Given the description of an element on the screen output the (x, y) to click on. 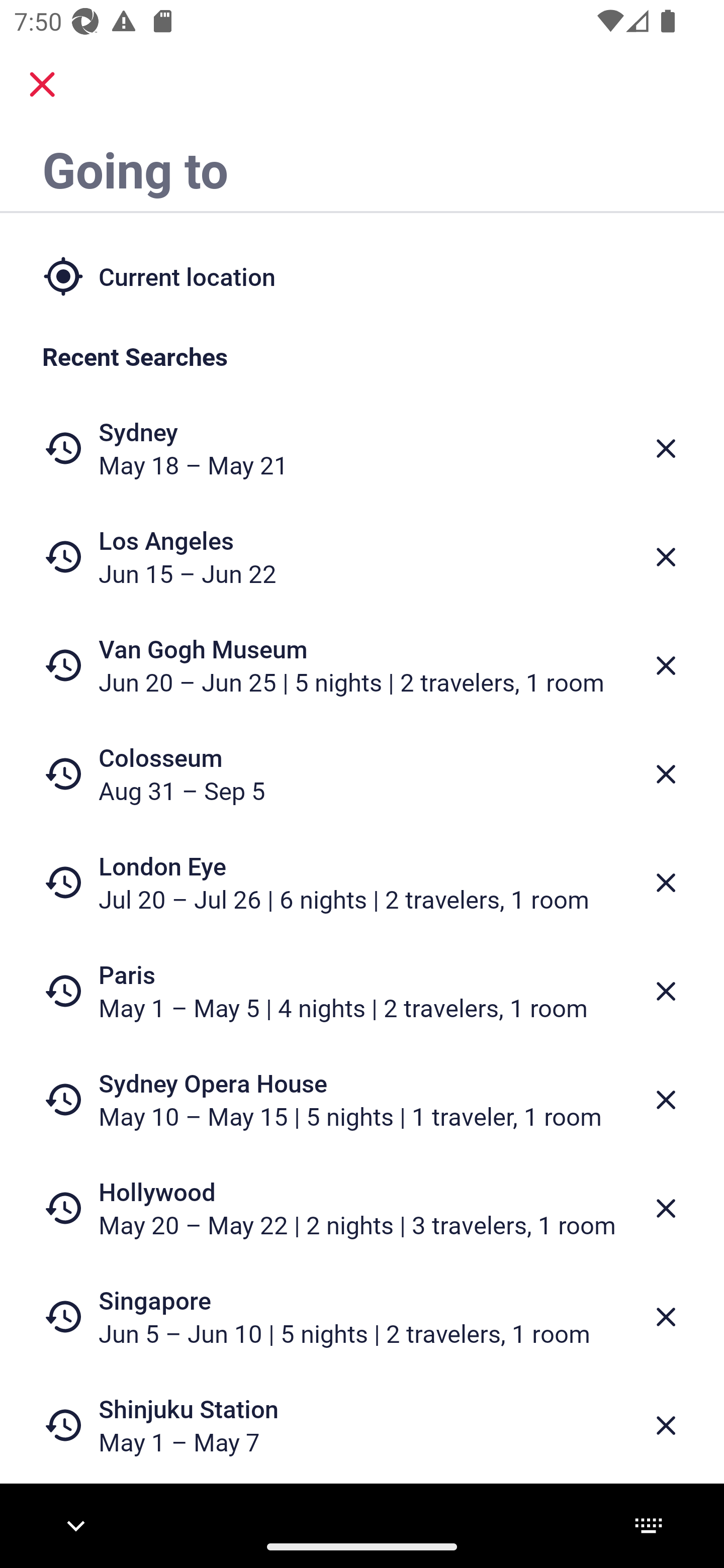
close. (42, 84)
Current location (362, 275)
Sydney May 18 – May 21 (362, 448)
Delete from recent searches (666, 448)
Los Angeles Jun 15 – Jun 22 (362, 557)
Delete from recent searches (666, 556)
Delete from recent searches (666, 666)
Colosseum Aug 31 – Sep 5 (362, 773)
Delete from recent searches (666, 774)
Delete from recent searches (666, 882)
Delete from recent searches (666, 990)
Delete from recent searches (666, 1100)
Delete from recent searches (666, 1208)
Delete from recent searches (666, 1316)
Shinjuku Station May 1 – May 7 (362, 1425)
Delete from recent searches (666, 1424)
